Given the description of an element on the screen output the (x, y) to click on. 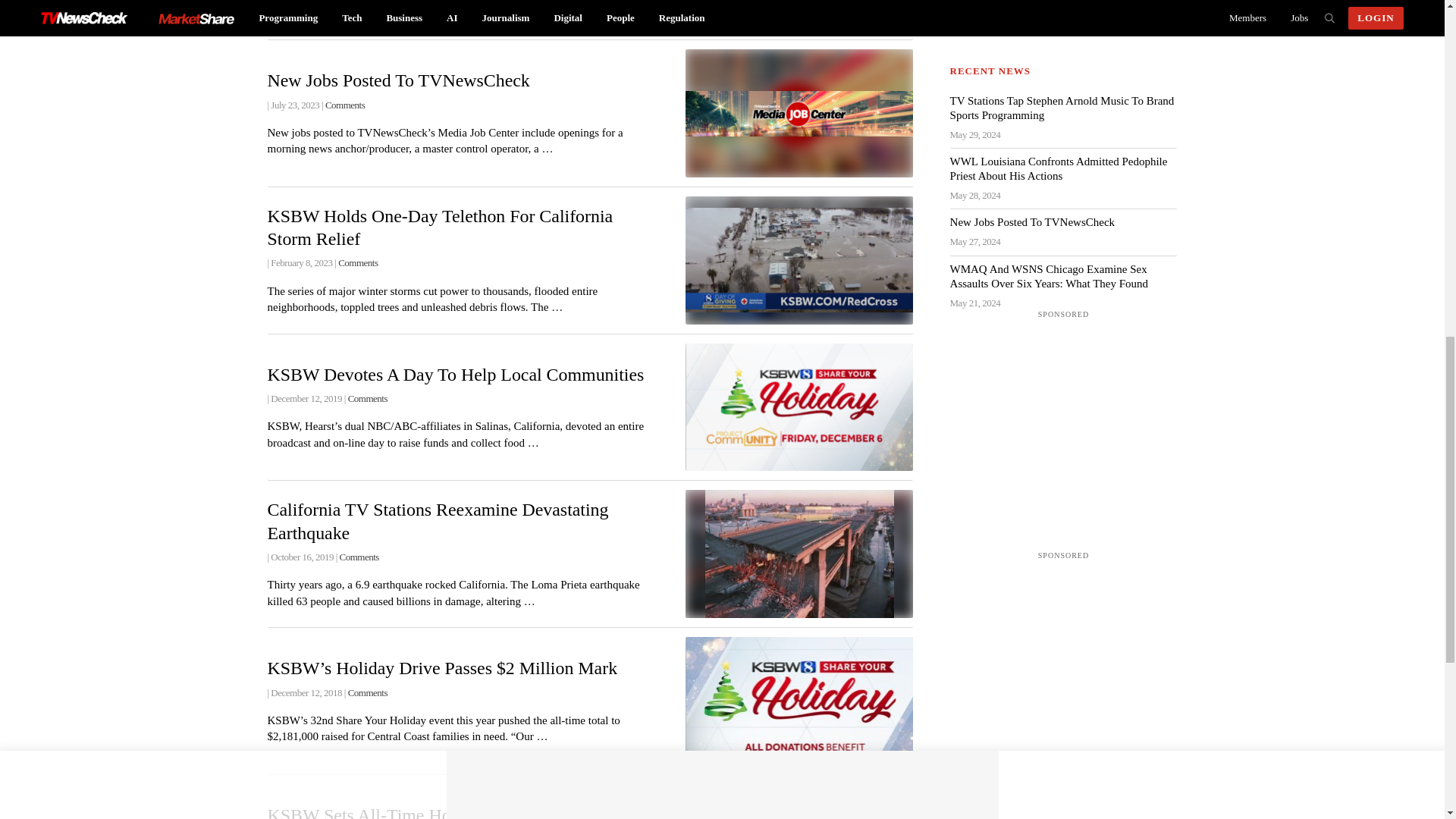
3rd party ad content (1063, 12)
3rd party ad content (1063, 416)
